Given the description of an element on the screen output the (x, y) to click on. 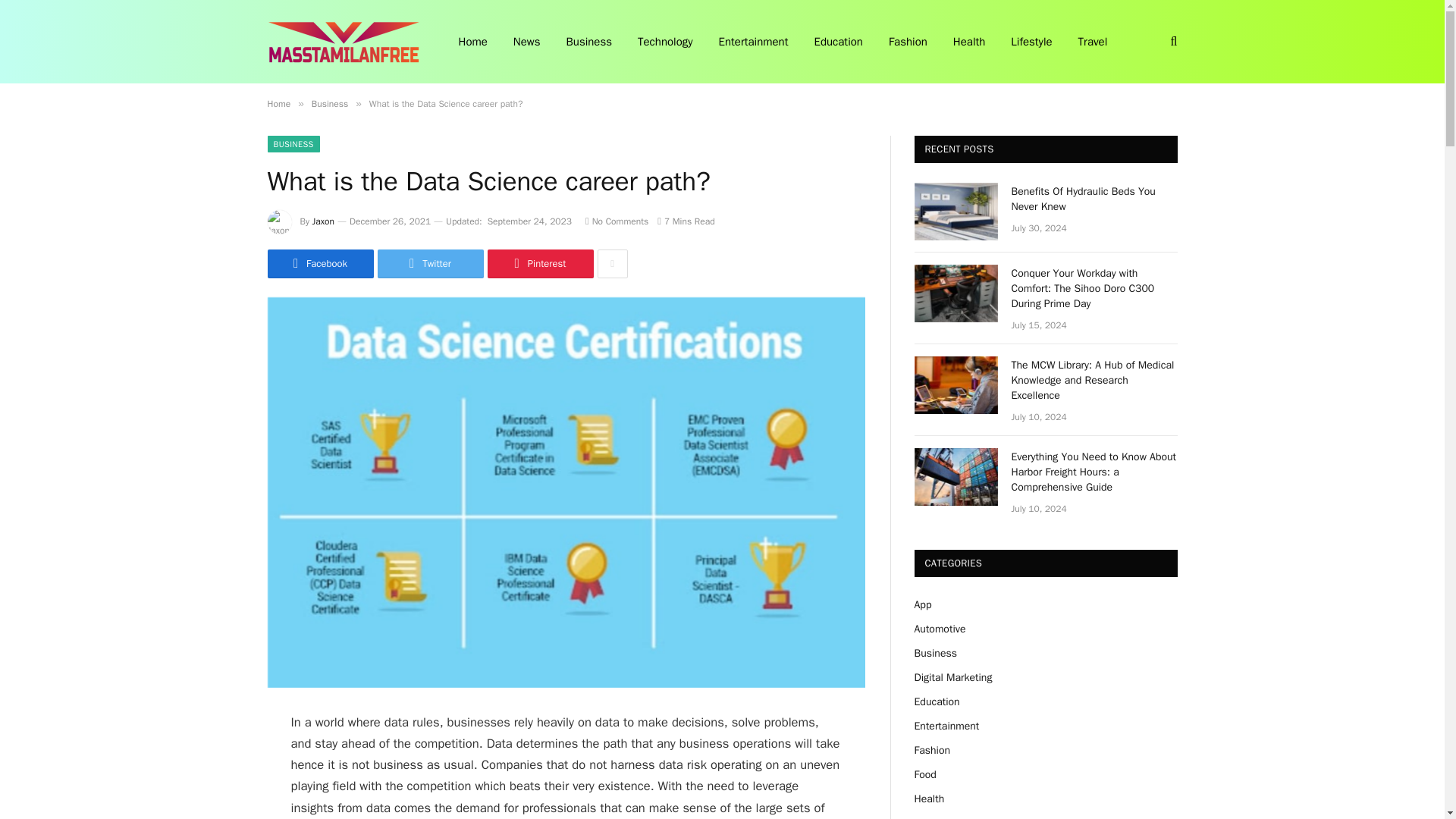
Business (329, 103)
Entertainment (754, 41)
Technology (665, 41)
Share on Twitter (430, 263)
Share on Facebook (319, 263)
Share on Pinterest (539, 263)
Posts by Jaxon (323, 221)
No Comments (616, 221)
Jaxon (323, 221)
Twitter (430, 263)
Masstamilan (342, 41)
BUSINESS (292, 143)
Show More Social Sharing (611, 263)
Home (277, 103)
